Given the description of an element on the screen output the (x, y) to click on. 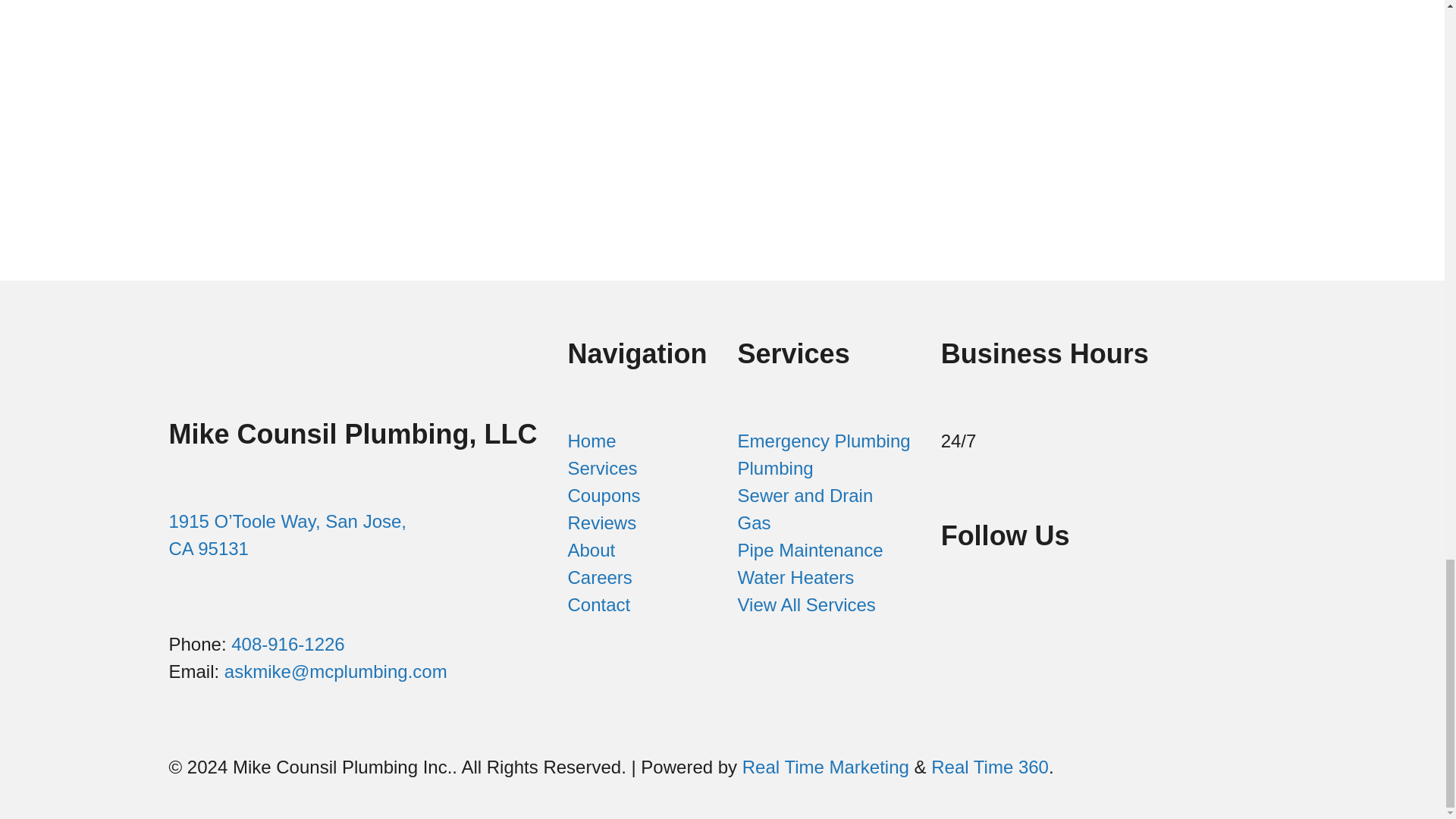
logo (282, 336)
